Given the description of an element on the screen output the (x, y) to click on. 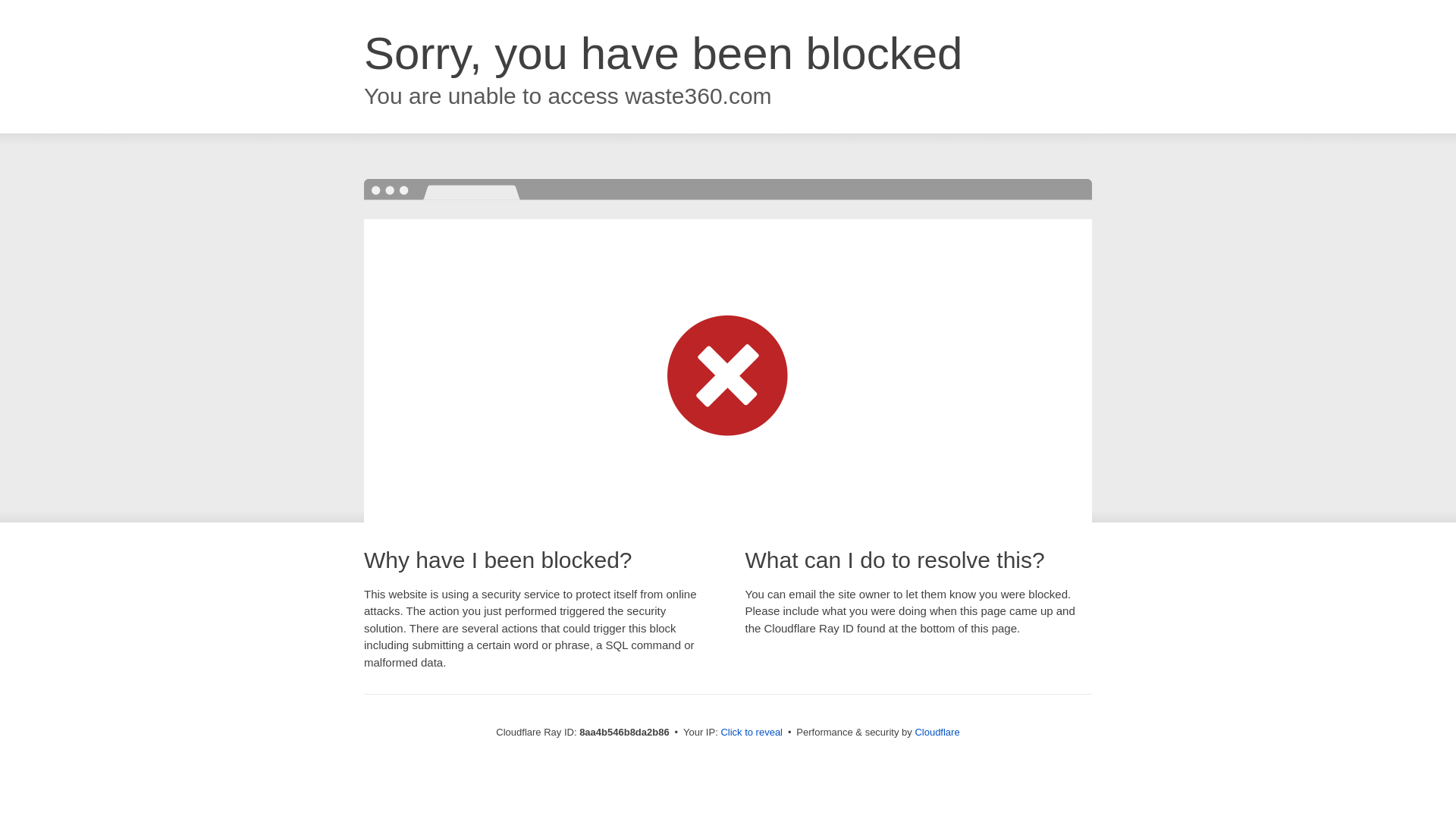
Cloudflare (936, 731)
Click to reveal (751, 732)
